Given the description of an element on the screen output the (x, y) to click on. 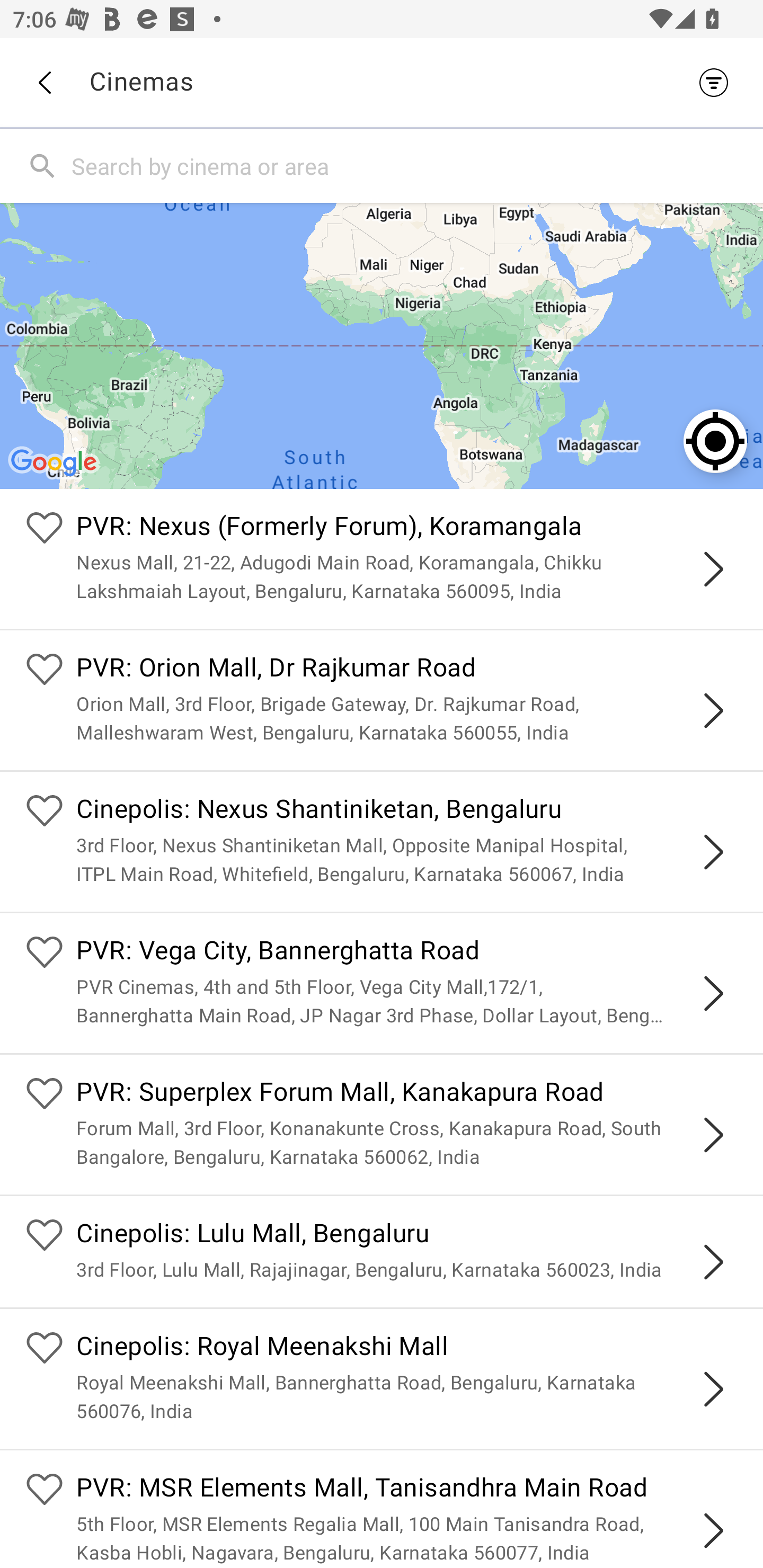
Back Cinemas Filter (381, 82)
Filter (718, 82)
Back (44, 82)
Search by cinema or area (413, 165)
Google Map (381, 345)
PVR: Nexus (Formerly Forum), Koramangala (406, 528)
 (713, 568)
PVR: Orion Mall, Dr Rajkumar Road (406, 669)
 (713, 710)
Cinepolis: Nexus Shantiniketan, Bengaluru (406, 810)
 (713, 851)
PVR: Vega City, Bannerghatta Road (406, 952)
 (713, 993)
PVR: Superplex Forum Mall, Kanakapura Road (406, 1094)
 (713, 1134)
Cinepolis: Lulu Mall, Bengaluru (406, 1235)
 (713, 1261)
Cinepolis: Royal Meenakshi Mall (406, 1348)
 (713, 1388)
PVR: MSR Elements Mall, Tanisandhra Main Road (406, 1489)
 (713, 1530)
